Given the description of an element on the screen output the (x, y) to click on. 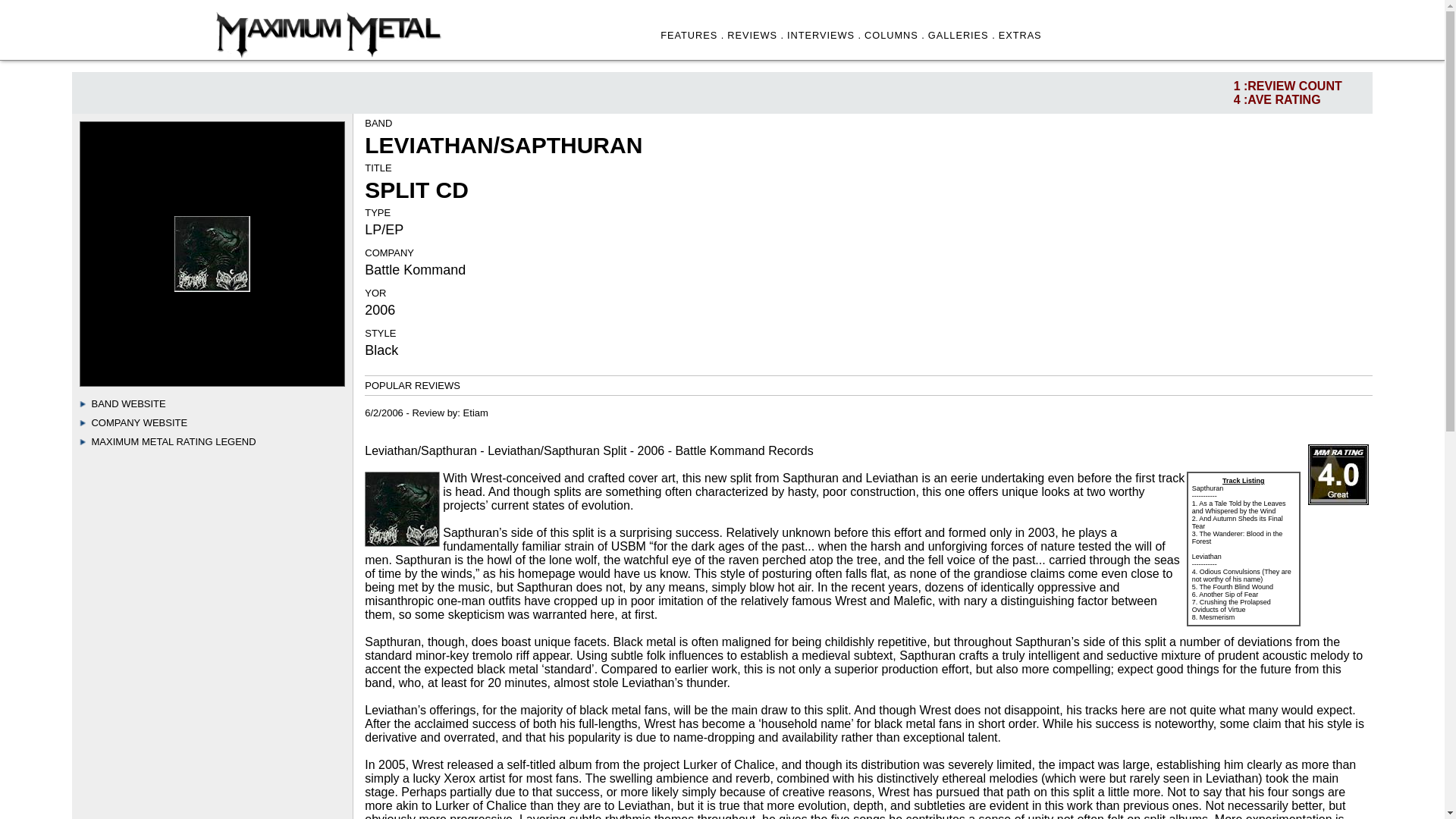
COMPANY WEBSITE (138, 422)
GALLERIES . (961, 34)
EXTRAS (1020, 34)
FEATURES . (692, 34)
REVIEWS . (755, 34)
BAND WEBSITE (127, 403)
Etiam (475, 412)
INTERVIEWS . (824, 34)
COLUMNS . (894, 34)
